Given the description of an element on the screen output the (x, y) to click on. 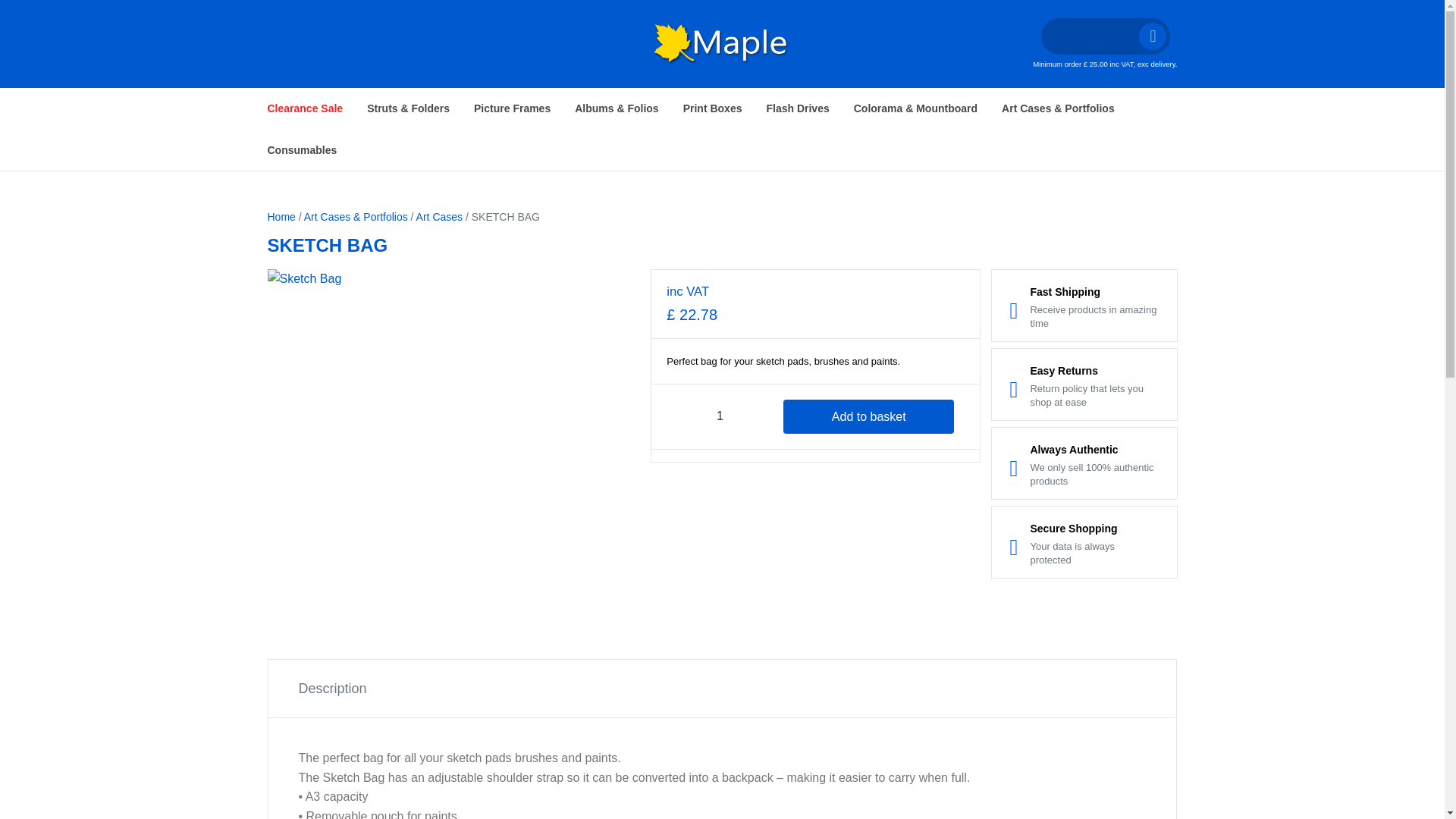
Sketch Bag (453, 443)
Clearance Sale (304, 107)
1 (719, 417)
